Given the description of an element on the screen output the (x, y) to click on. 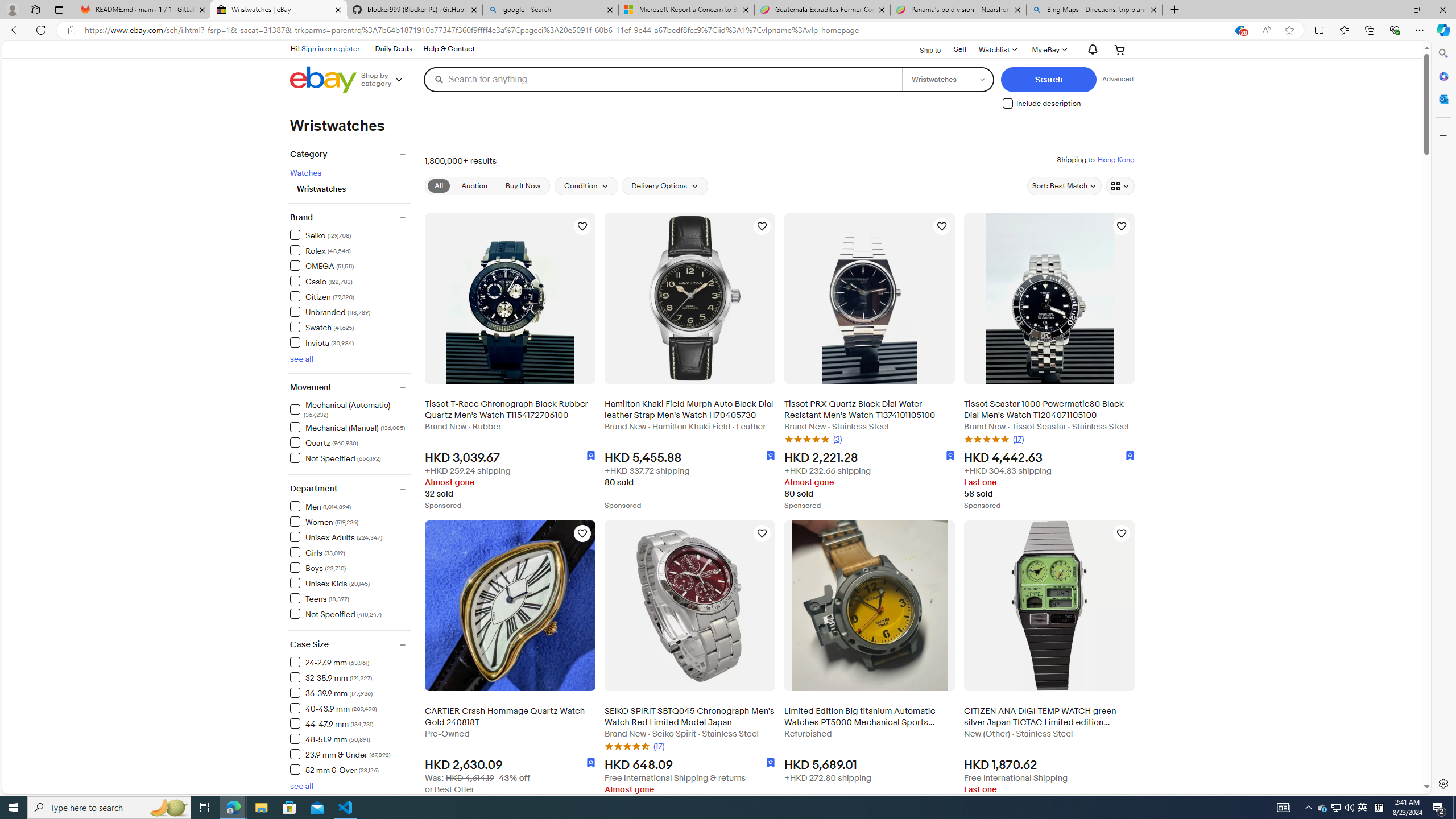
Men(1,014,894) Items (349, 505)
My eBay (1048, 49)
Women (519,226) Items (323, 521)
Mechanical (Automatic) (367,232) Items (349, 409)
Condition (585, 185)
Girls(33,019) Items (349, 551)
register (346, 48)
32-35.9 mm(121,227) Items (349, 676)
